Given the description of an element on the screen output the (x, y) to click on. 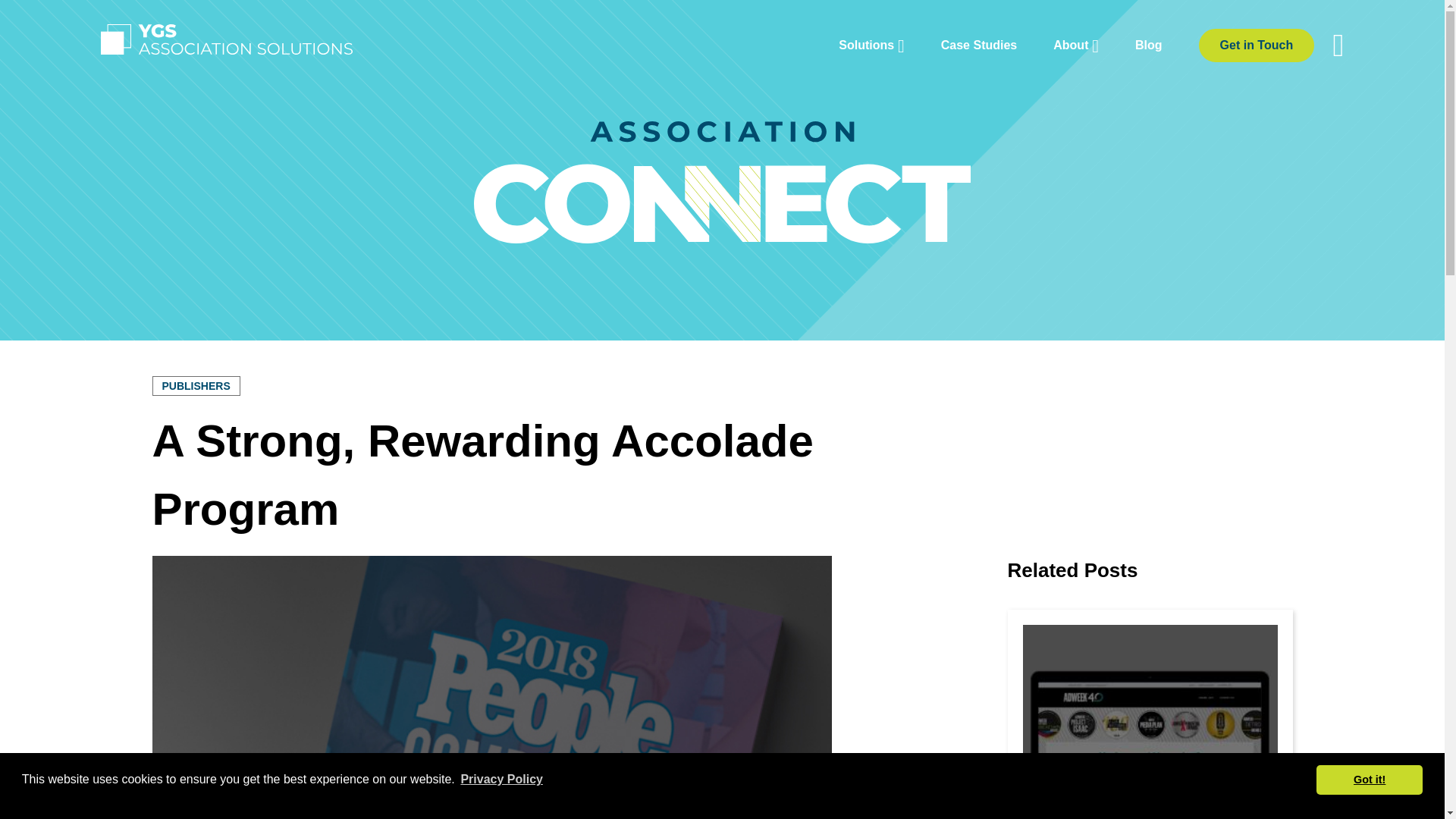
Privacy Policy (501, 779)
Solutions (871, 45)
Got it! (1369, 779)
